Given the description of an element on the screen output the (x, y) to click on. 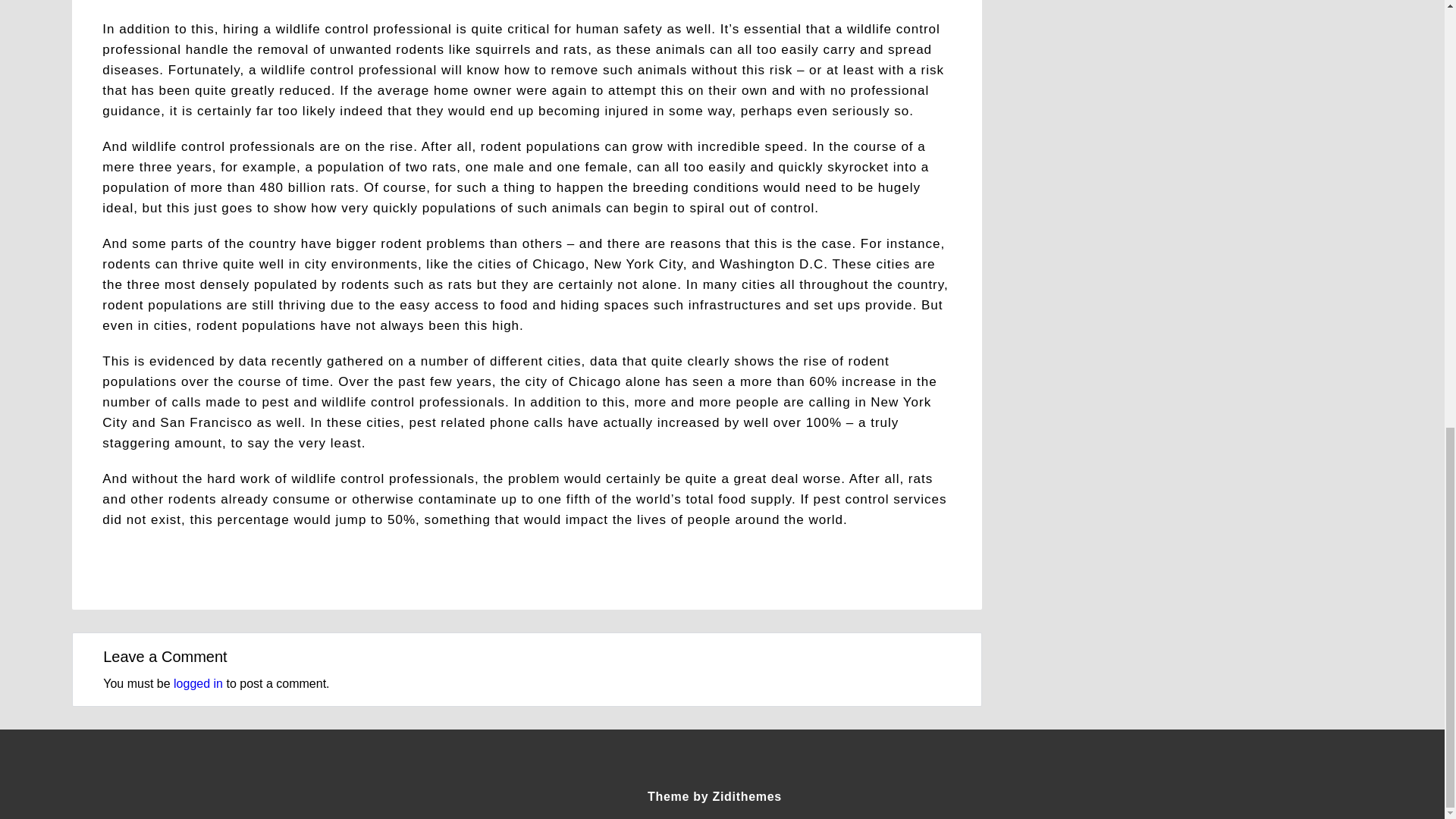
Theme by Zidithemes (714, 796)
logged in (197, 683)
